Given the description of an element on the screen output the (x, y) to click on. 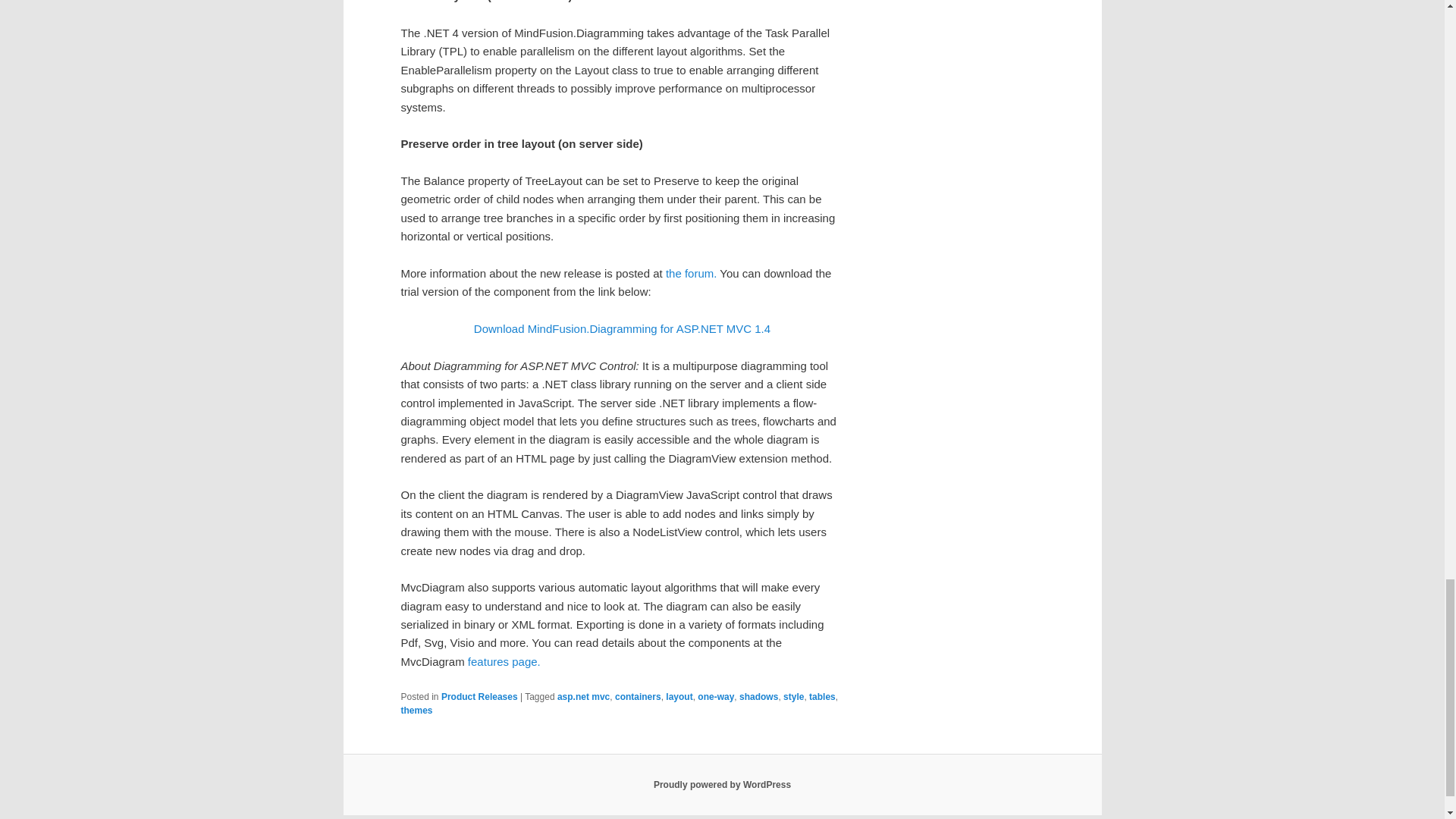
the forum. (691, 273)
themes (416, 710)
asp.net mvc (583, 696)
one-way (715, 696)
tables (822, 696)
layout (679, 696)
features page. (503, 661)
shadows (758, 696)
containers (637, 696)
Download MindFusion.Diagramming for ASP.NET MVC 1.4 (622, 328)
style (793, 696)
Product Releases (479, 696)
Semantic Personal Publishing Platform (721, 784)
